Given the description of an element on the screen output the (x, y) to click on. 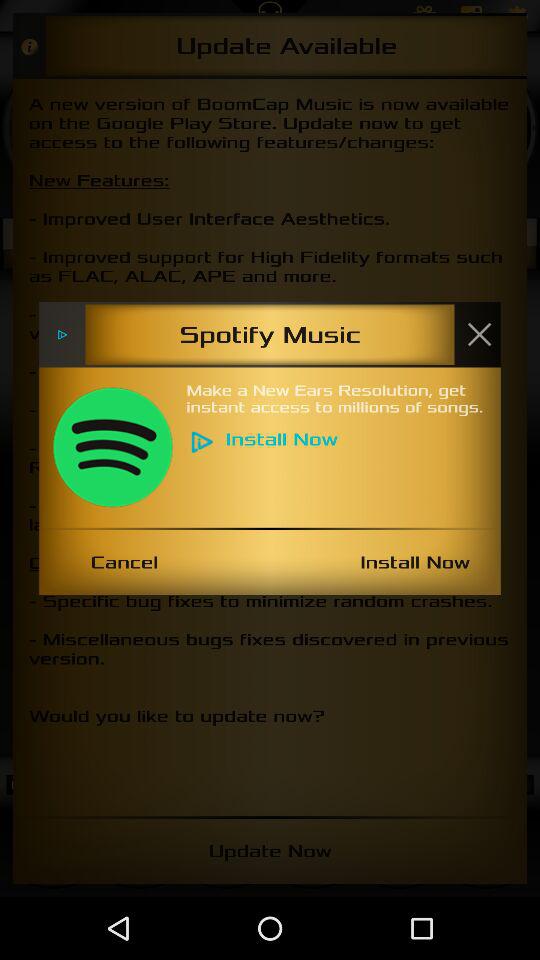
tap the item next to install now (124, 562)
